Given the description of an element on the screen output the (x, y) to click on. 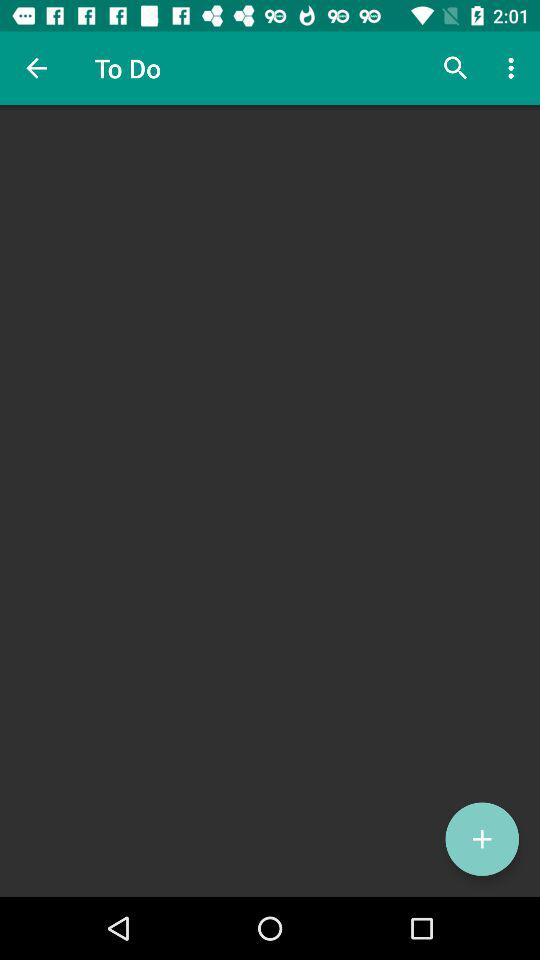
turn off item at the bottom right corner (482, 839)
